Given the description of an element on the screen output the (x, y) to click on. 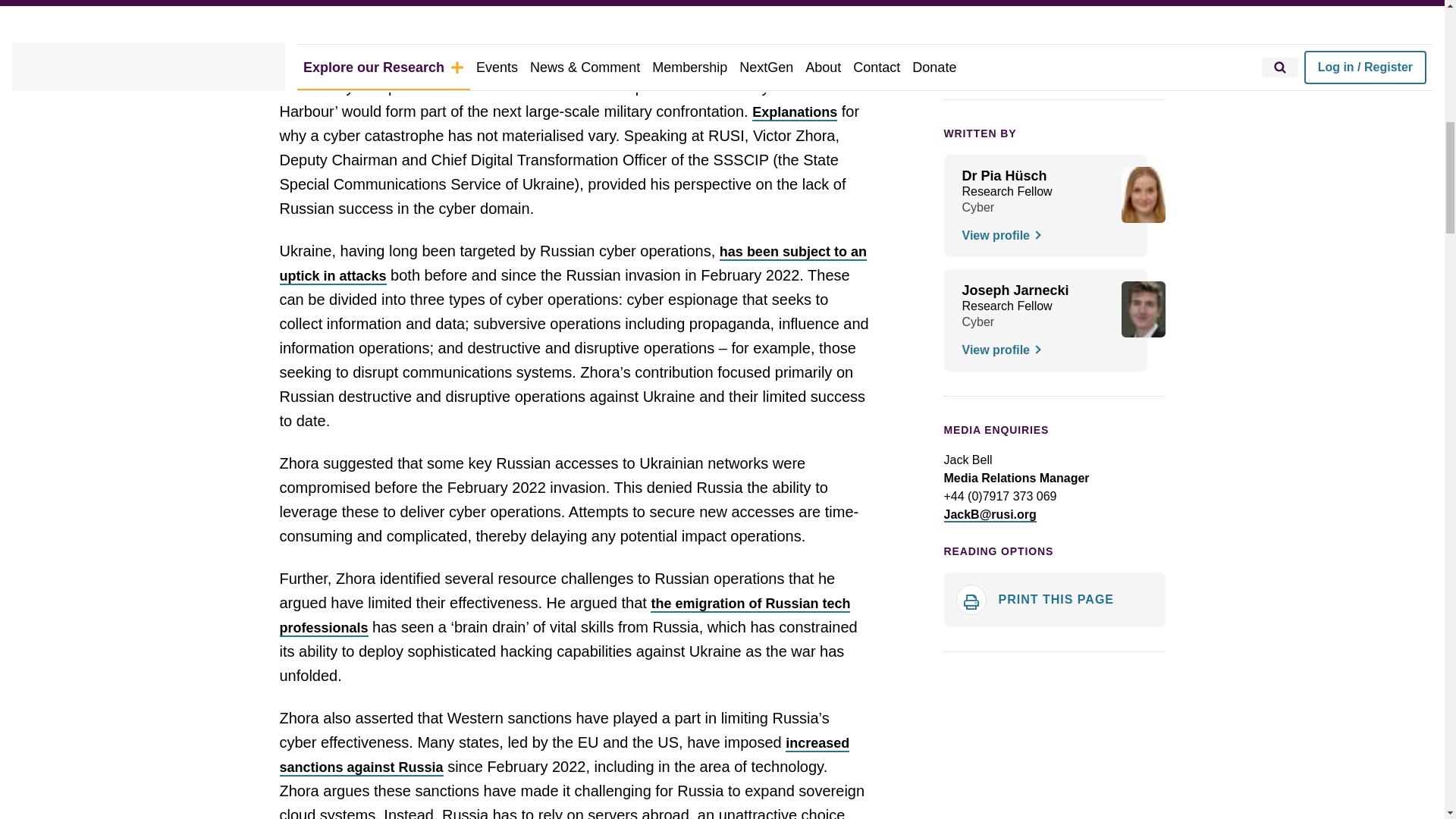
has been subject to an uptick in attacks (572, 264)
Explanations (794, 112)
the emigration of Russian tech professionals (564, 616)
increased sanctions against Russia (563, 755)
